Given the description of an element on the screen output the (x, y) to click on. 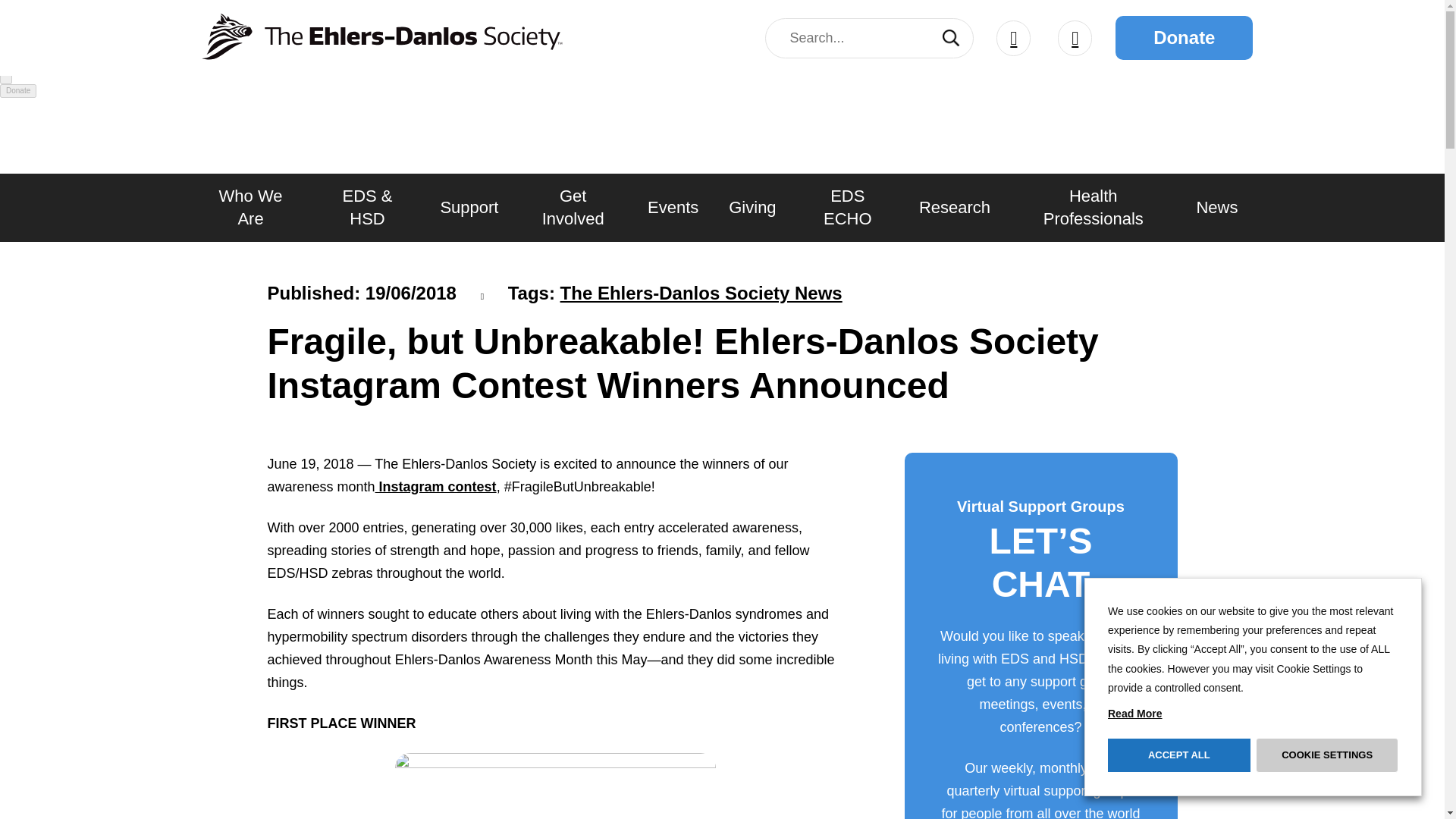
Donate (18, 90)
Donate (1183, 37)
Who We Are (249, 206)
The Ehlers Danlos Society (379, 37)
Contact Us (1075, 37)
